Given the description of an element on the screen output the (x, y) to click on. 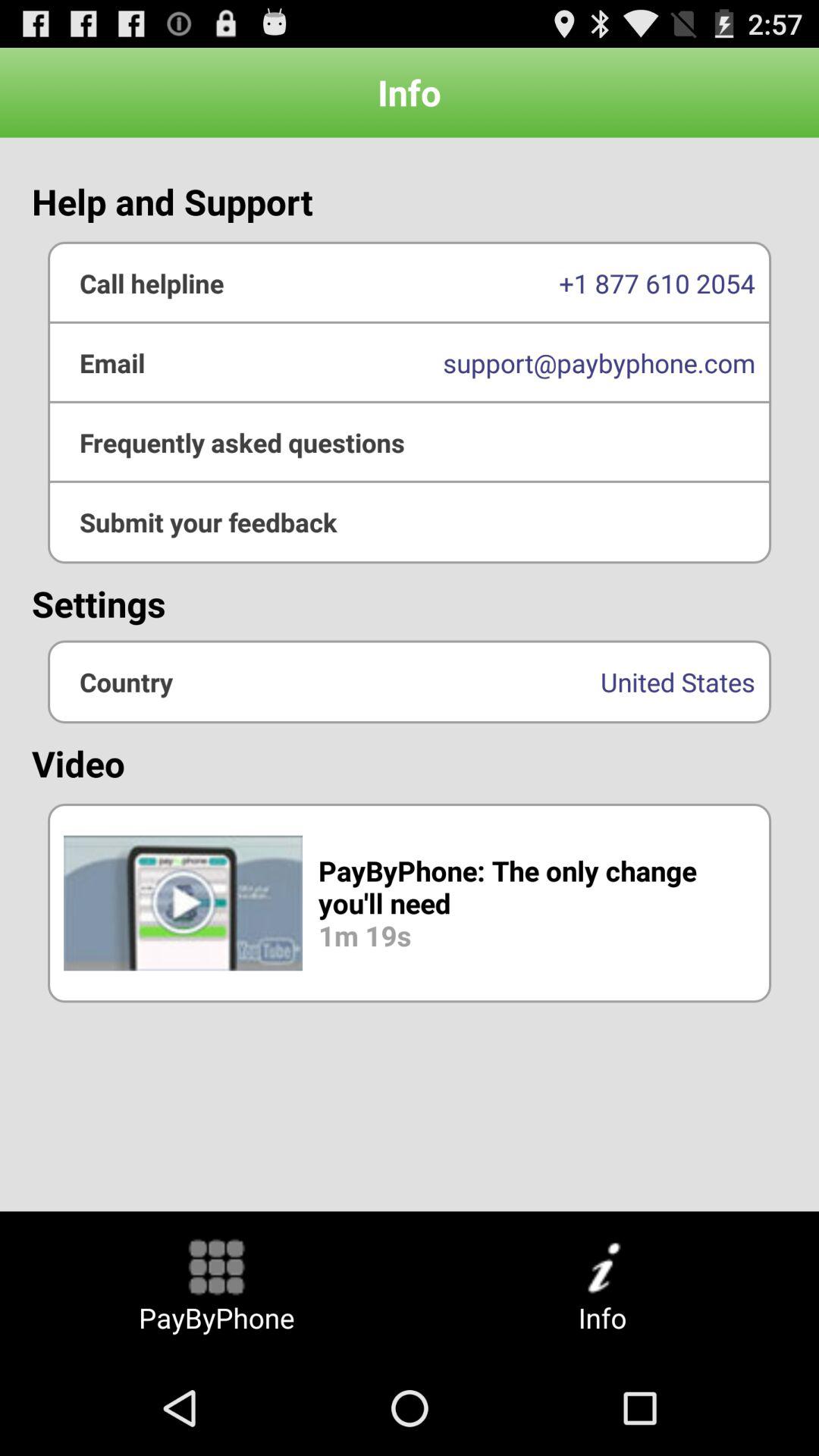
launch the button above paybyphone button (409, 902)
